Given the description of an element on the screen output the (x, y) to click on. 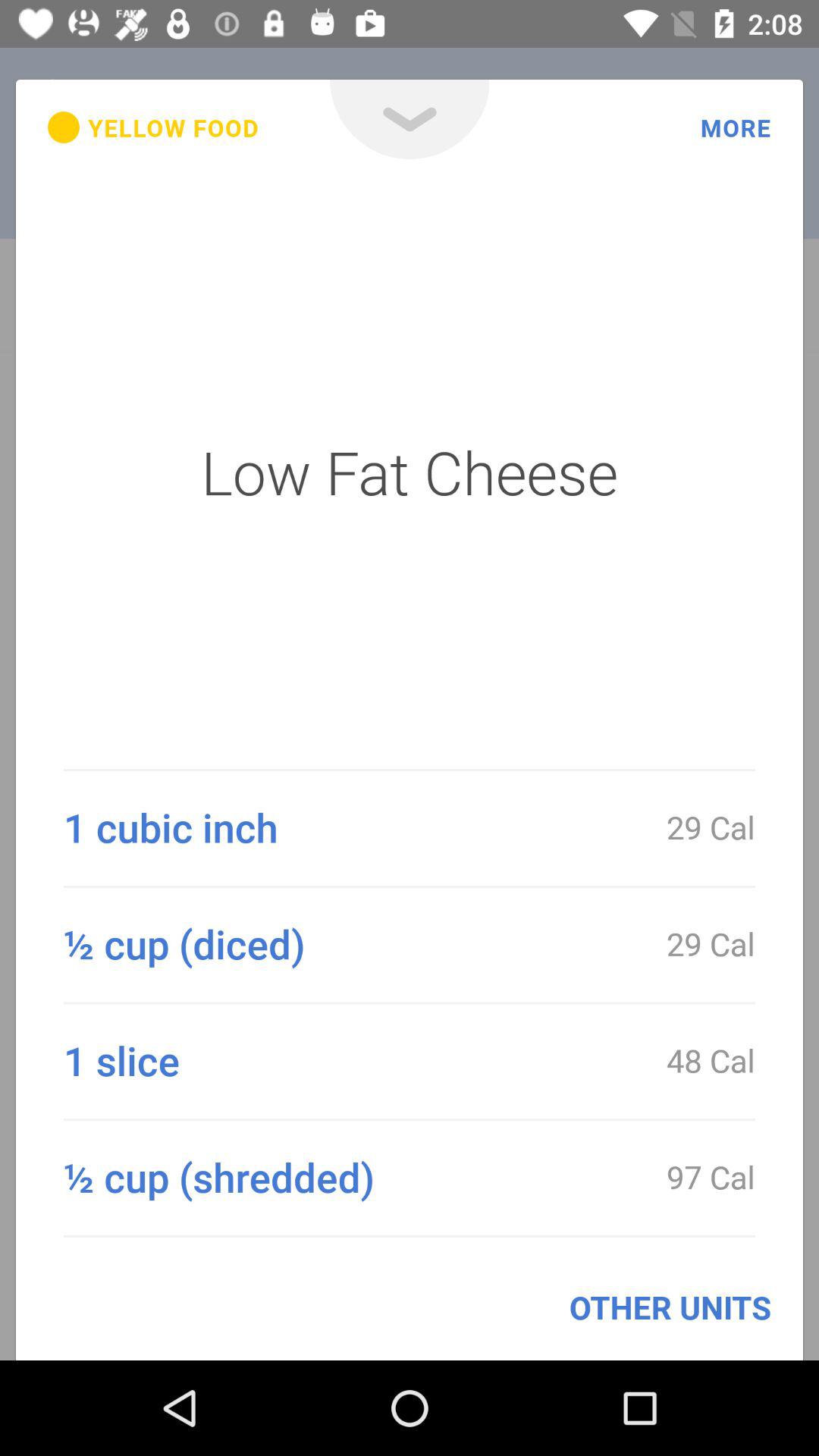
turn off icon next to more (409, 119)
